Given the description of an element on the screen output the (x, y) to click on. 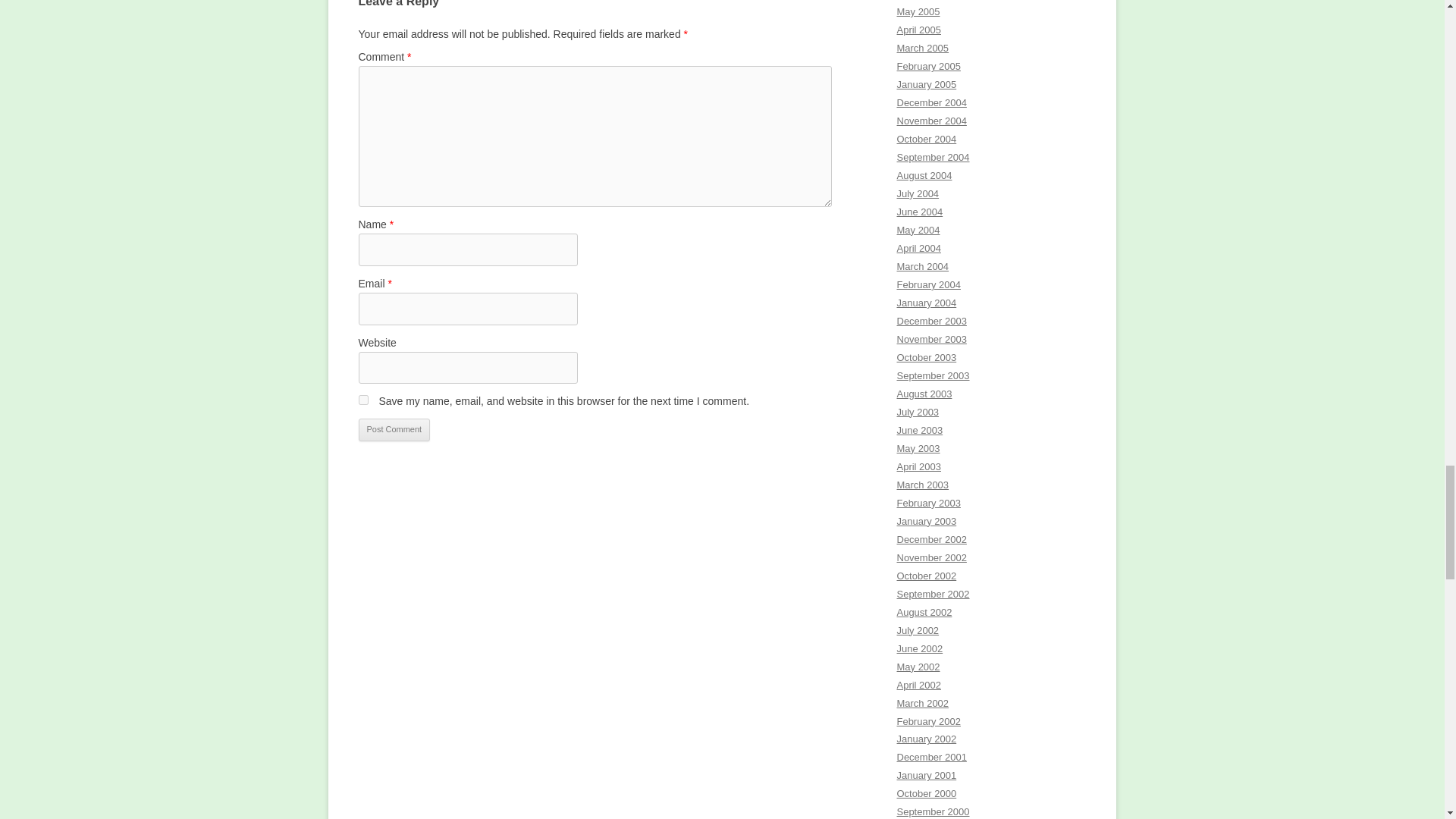
Post Comment (393, 429)
yes (363, 399)
Post Comment (393, 429)
